Given the description of an element on the screen output the (x, y) to click on. 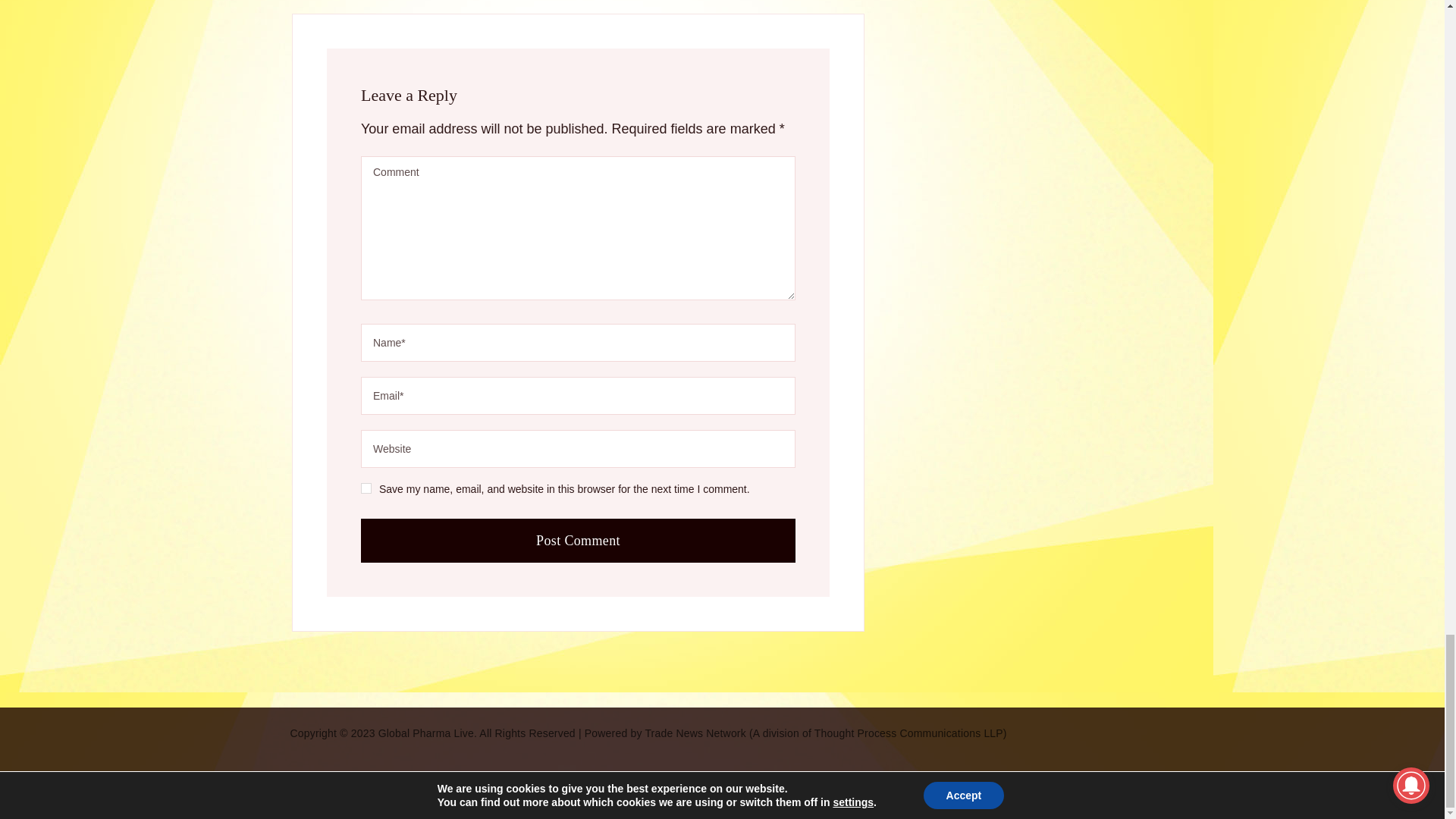
Post Comment (577, 540)
yes (366, 488)
